Given the description of an element on the screen output the (x, y) to click on. 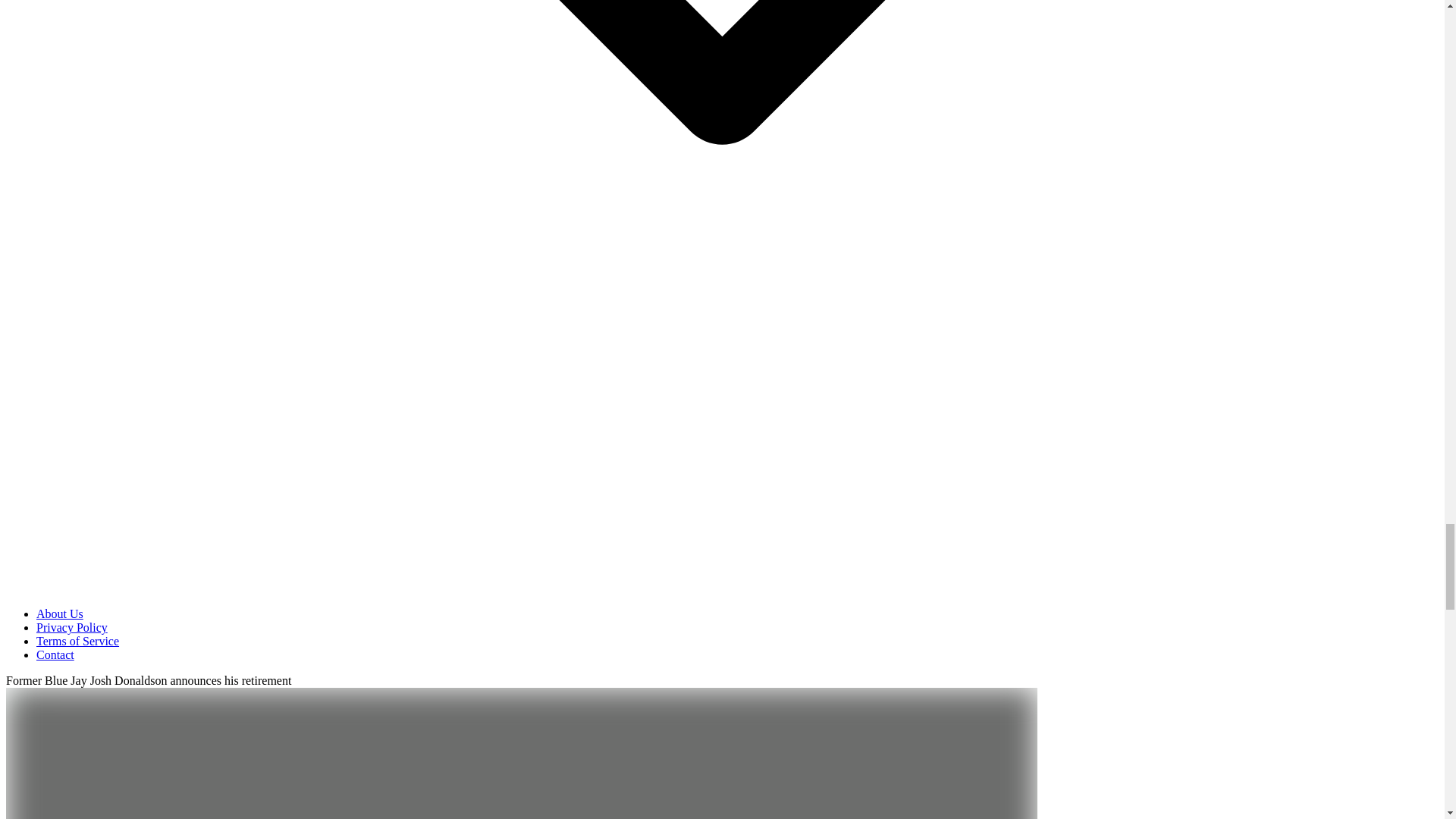
Privacy Policy (71, 626)
About Us (59, 613)
Terms of Service (77, 640)
Contact (55, 654)
